Given the description of an element on the screen output the (x, y) to click on. 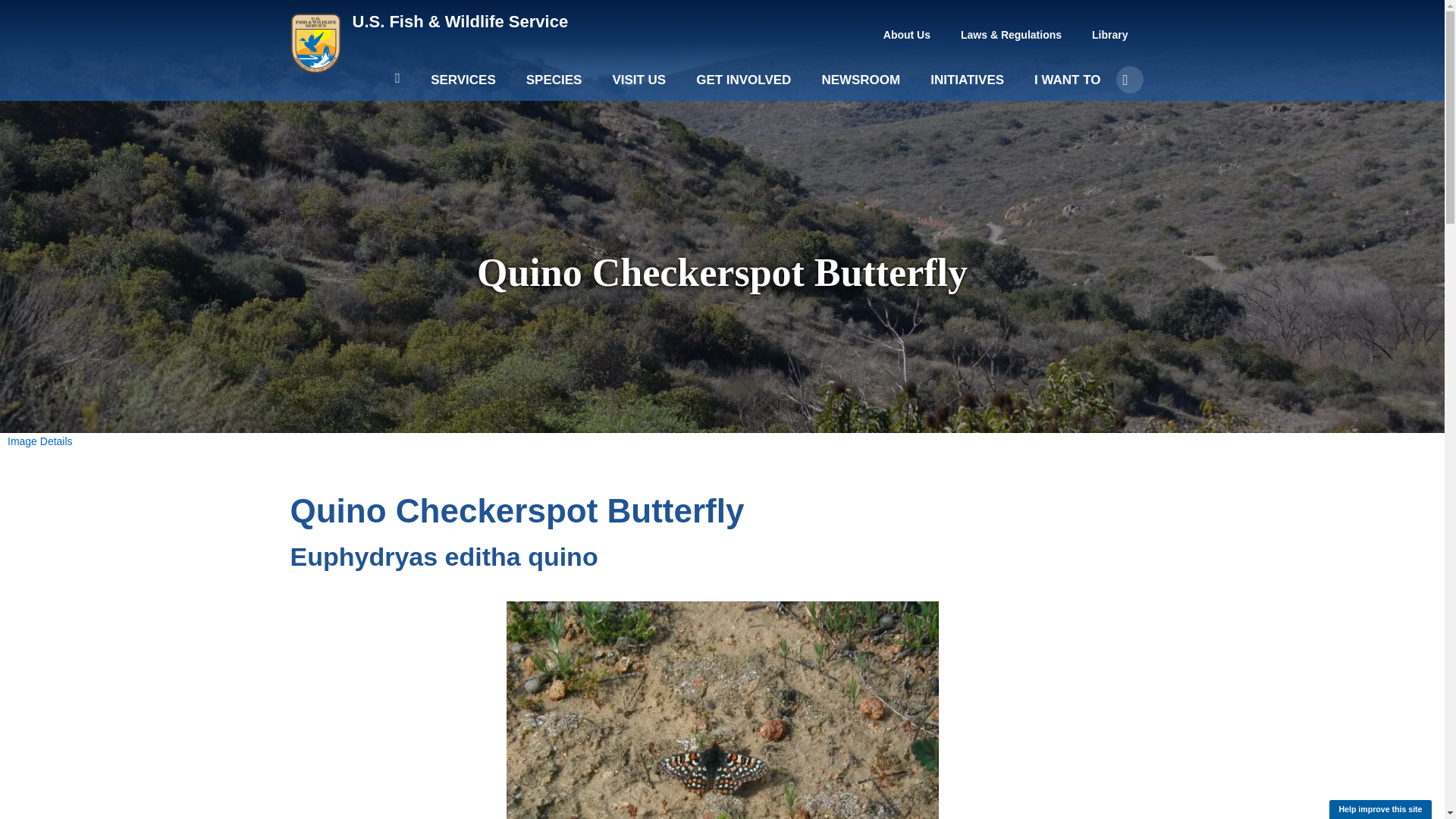
Access services provided by FWS (463, 86)
About Us (906, 34)
FWS Home (459, 21)
Library (1109, 34)
SERVICES (463, 86)
